Given the description of an element on the screen output the (x, y) to click on. 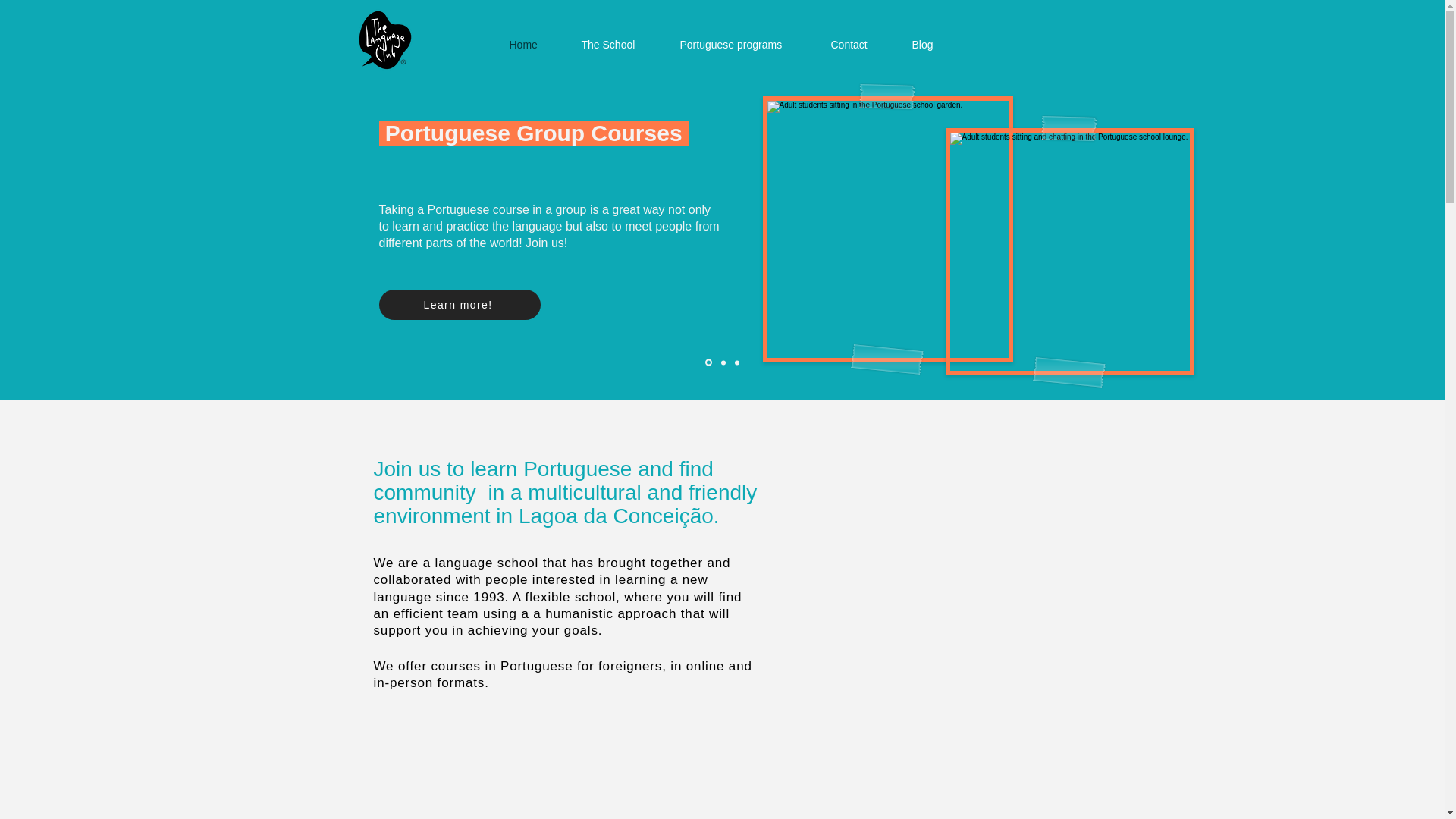
Blog (933, 44)
Home (533, 44)
The School (619, 44)
Learn more! (459, 304)
Contact (858, 44)
